Given the description of an element on the screen output the (x, y) to click on. 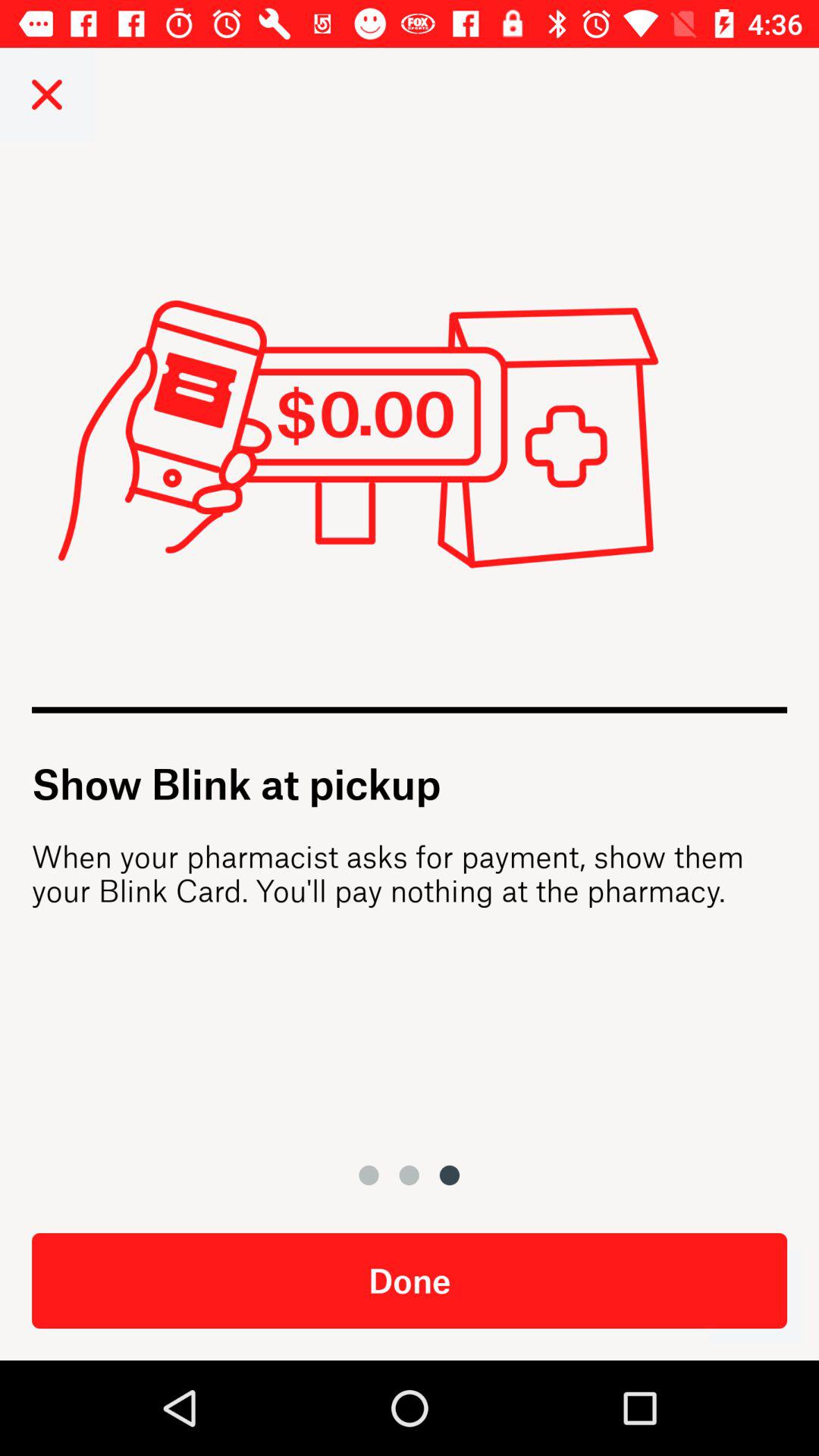
launch the item at the bottom right corner (755, 1296)
